Given the description of an element on the screen output the (x, y) to click on. 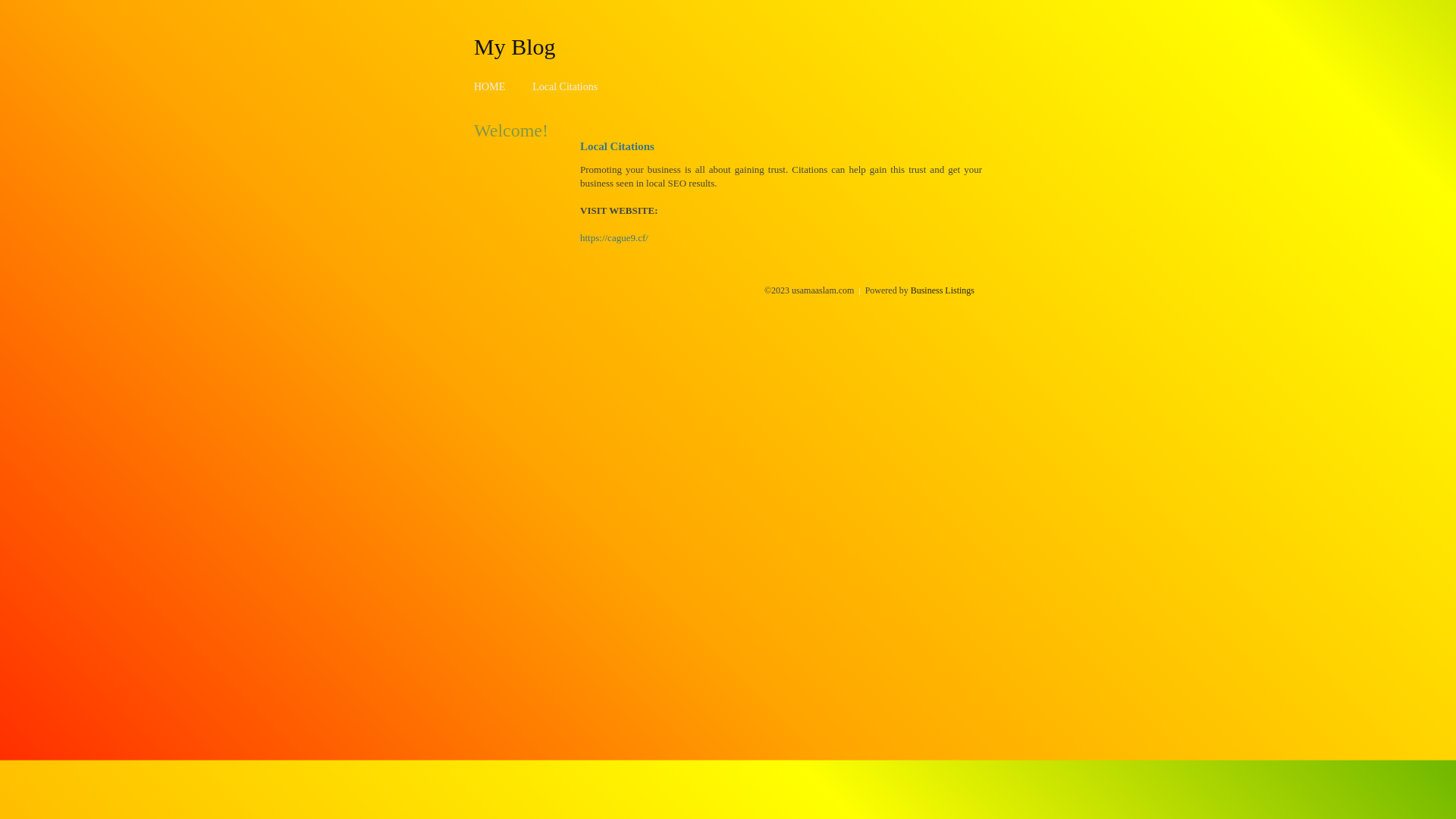
Business Listings Element type: text (942, 290)
Local Citations Element type: text (564, 86)
My Blog Element type: text (514, 46)
HOME Element type: text (489, 86)
https://cague9.cf/ Element type: text (614, 237)
